Given the description of an element on the screen output the (x, y) to click on. 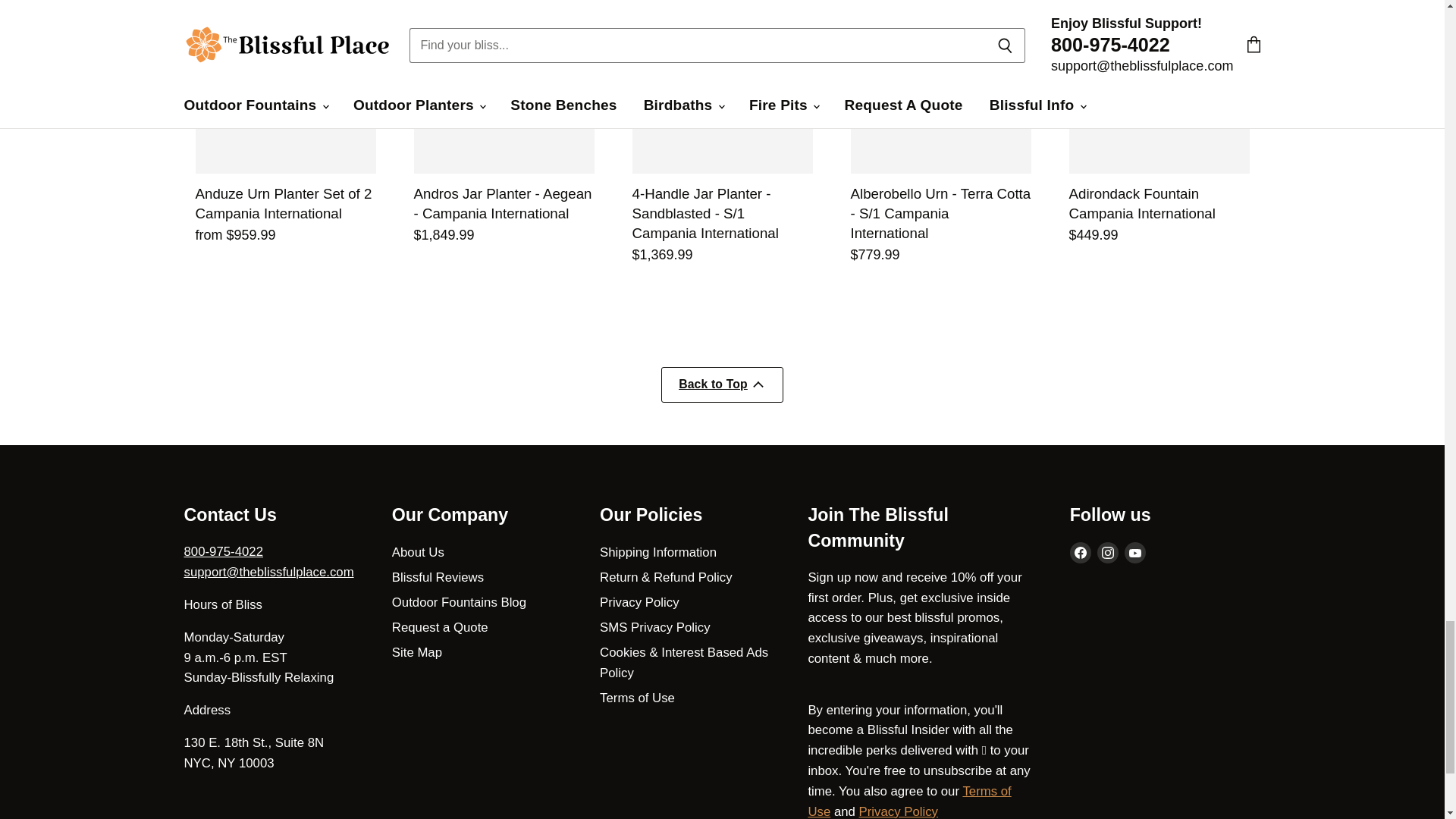
Facebook (1080, 552)
Instagram (1107, 552)
tel:800-975-4022 (223, 551)
YouTube (1134, 552)
